Given the description of an element on the screen output the (x, y) to click on. 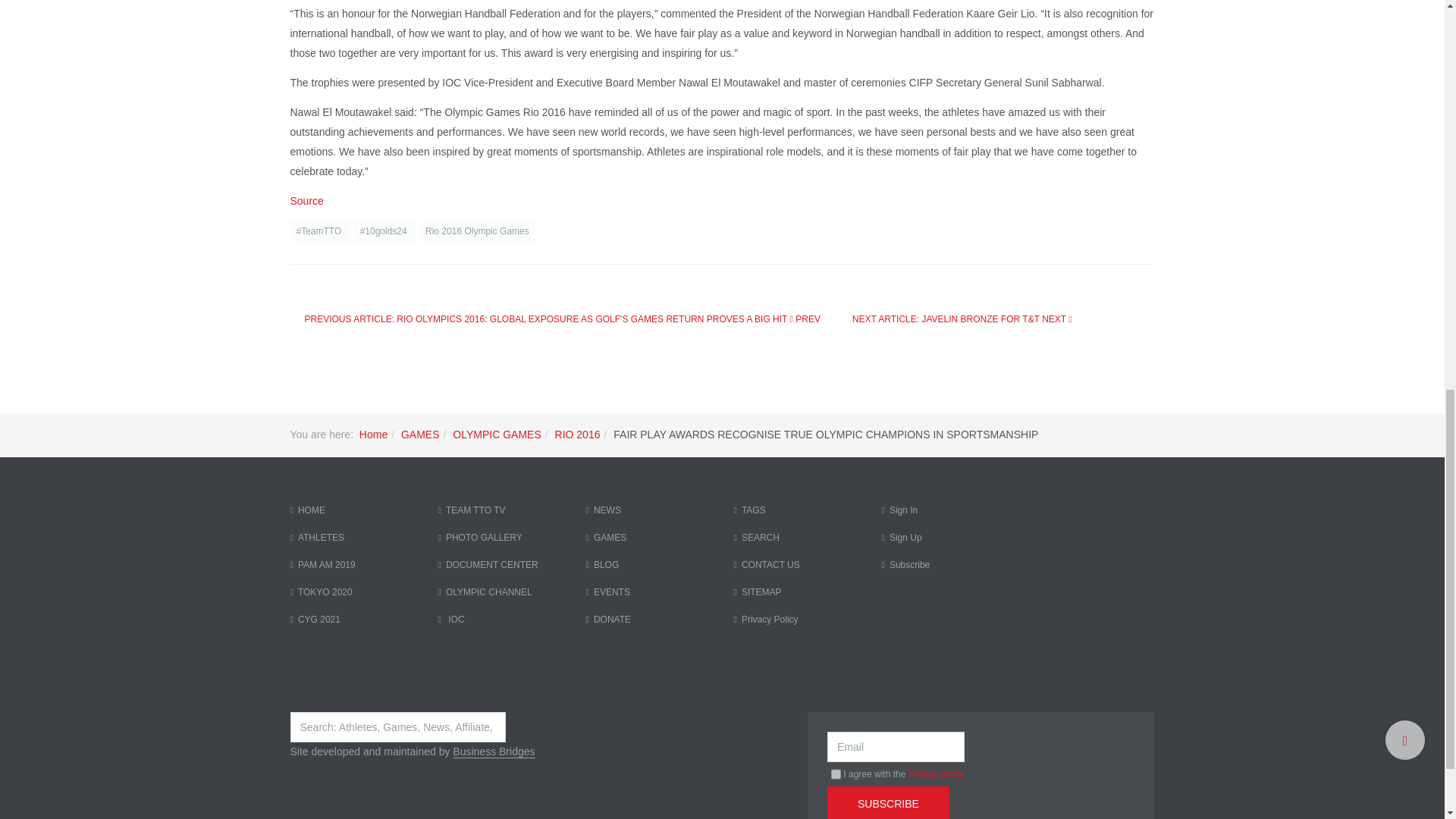
Terms and conditions (836, 774)
Business Bridges (493, 751)
on (836, 774)
Subscribe (888, 802)
